Given the description of an element on the screen output the (x, y) to click on. 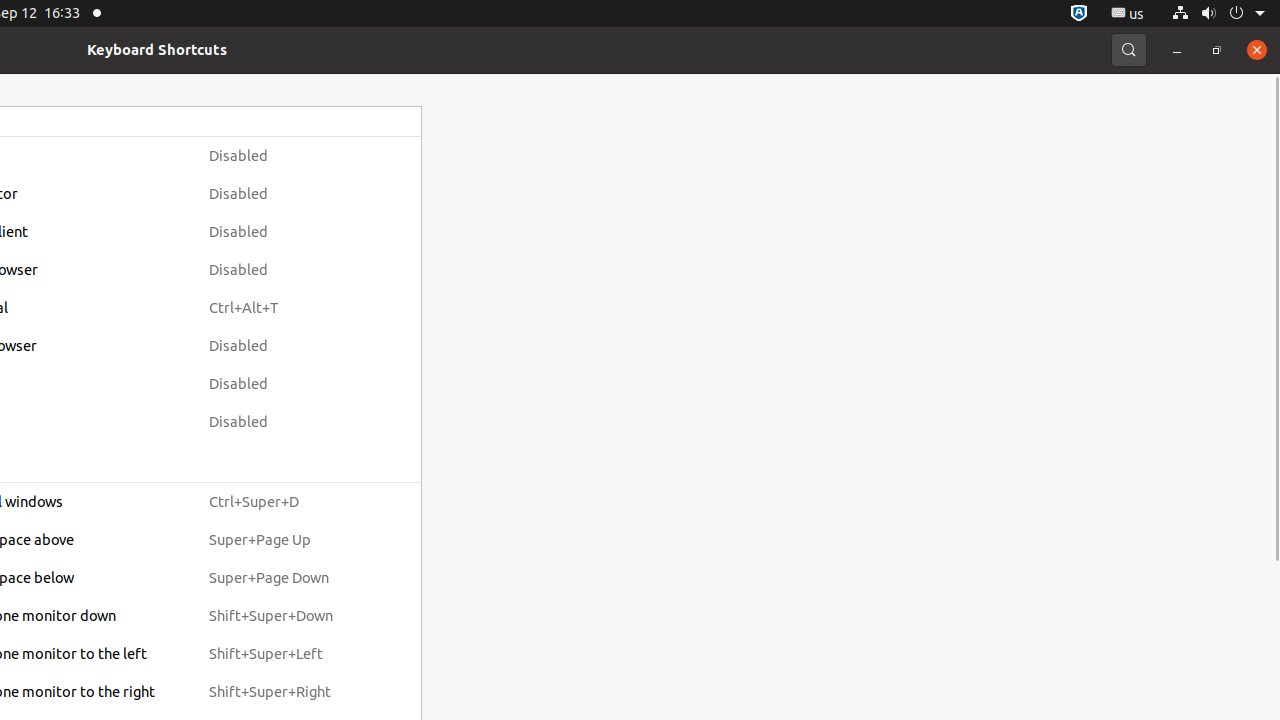
Keyboard Shortcuts Element type: label (157, 49)
Close Element type: push-button (1257, 50)
Super+Page Down Element type: label (289, 578)
Super+Page Up Element type: label (289, 540)
